Given the description of an element on the screen output the (x, y) to click on. 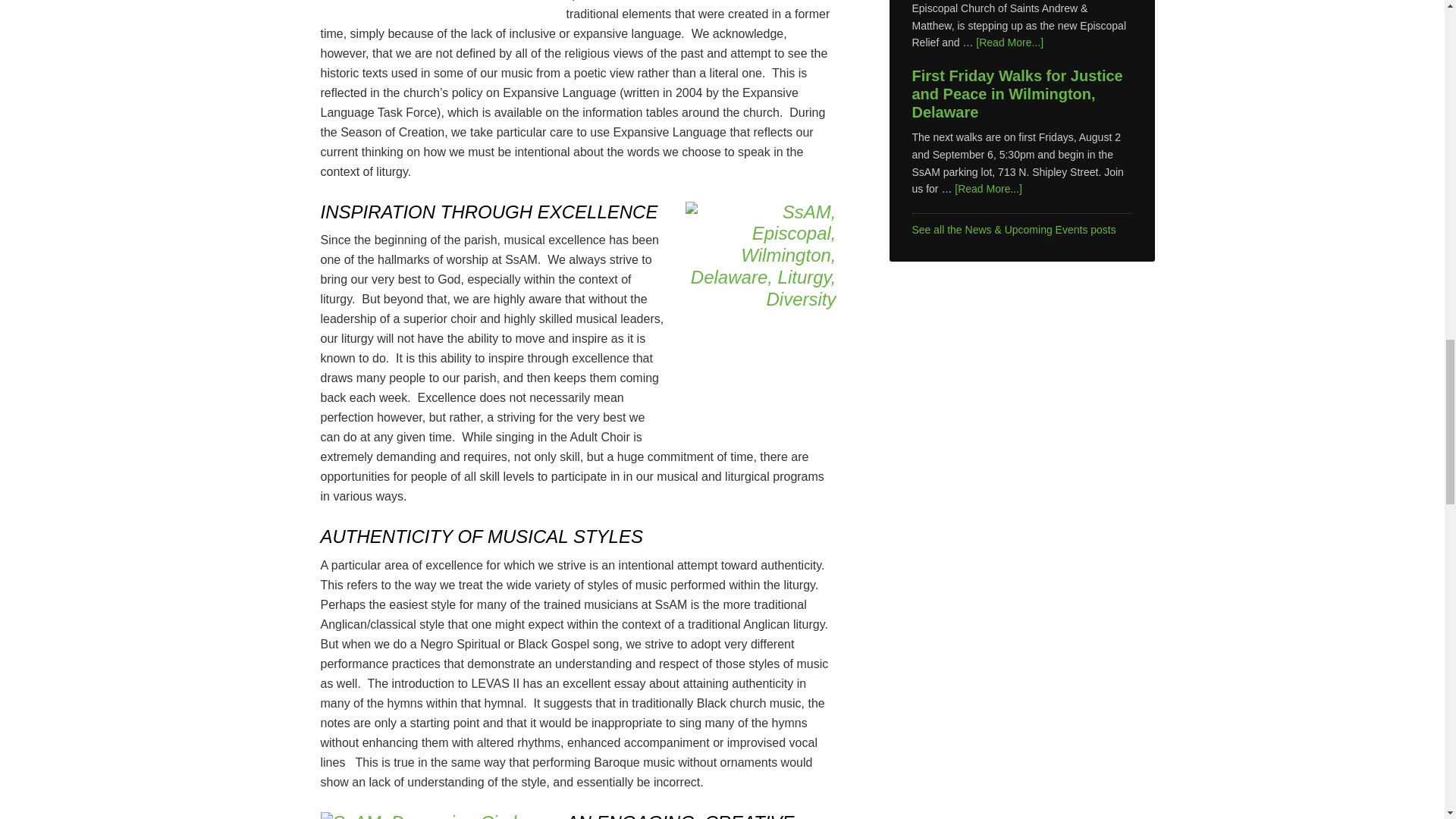
news (1013, 229)
